Given the description of an element on the screen output the (x, y) to click on. 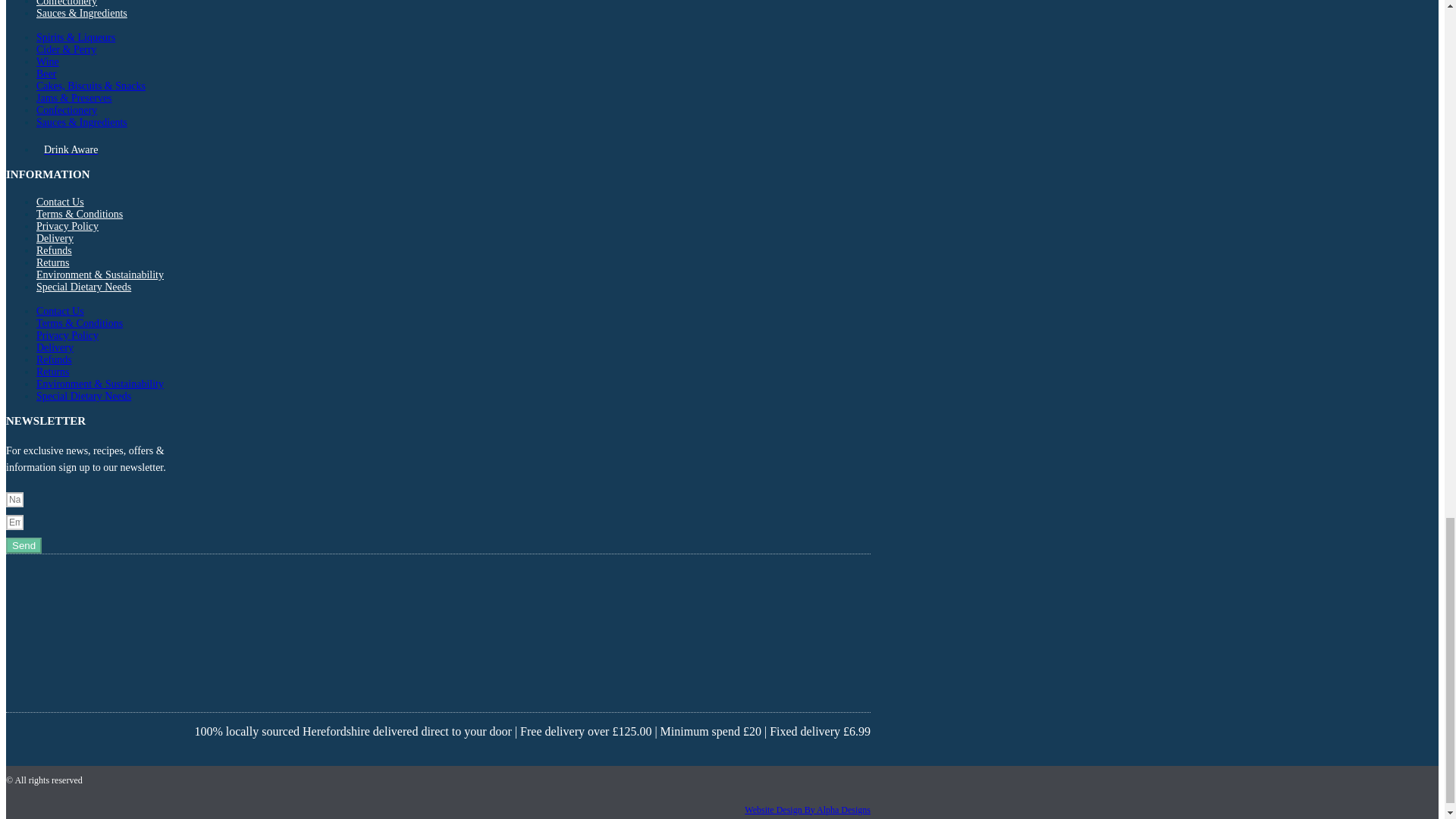
Wine (47, 61)
Confectionery (66, 5)
Beer (46, 73)
